Given the description of an element on the screen output the (x, y) to click on. 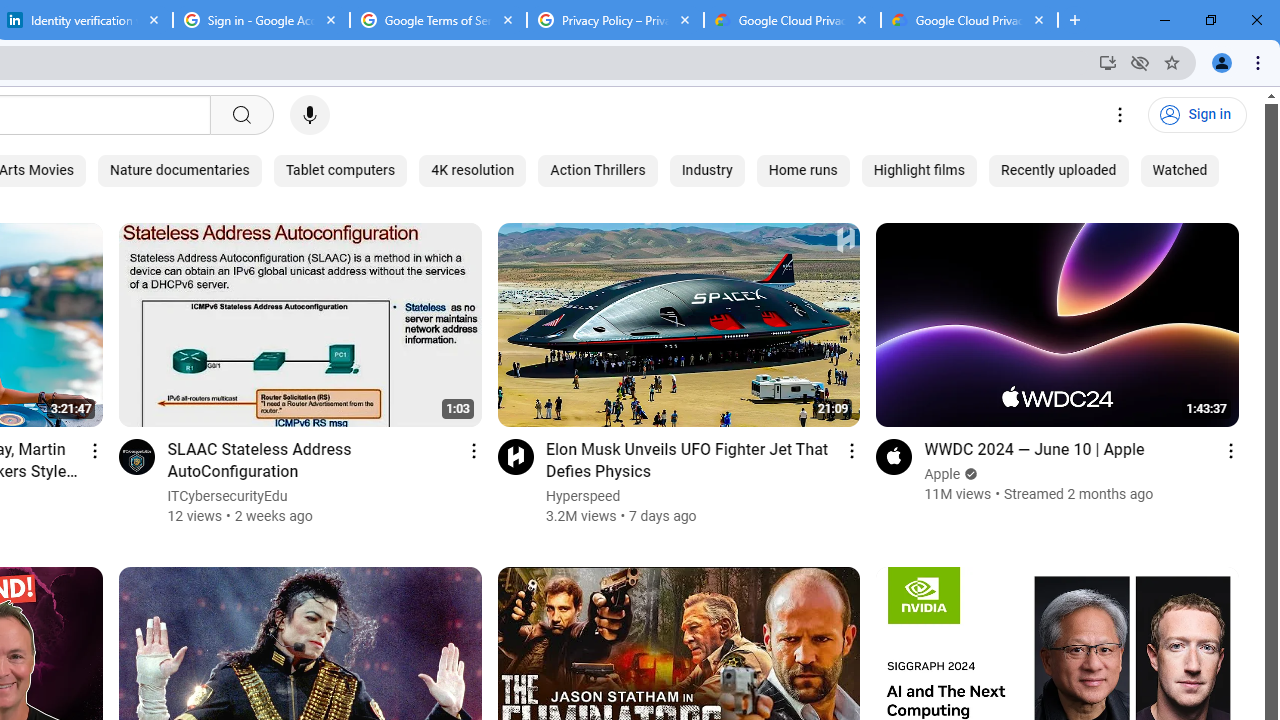
Go to channel (893, 456)
Recently uploaded (1058, 170)
Sign in (1197, 115)
Highlight films (919, 170)
Industry (706, 170)
Action menu (1229, 449)
Install YouTube (1107, 62)
Settings (1119, 115)
Tablet computers (340, 170)
Action Thrillers (597, 170)
